Given the description of an element on the screen output the (x, y) to click on. 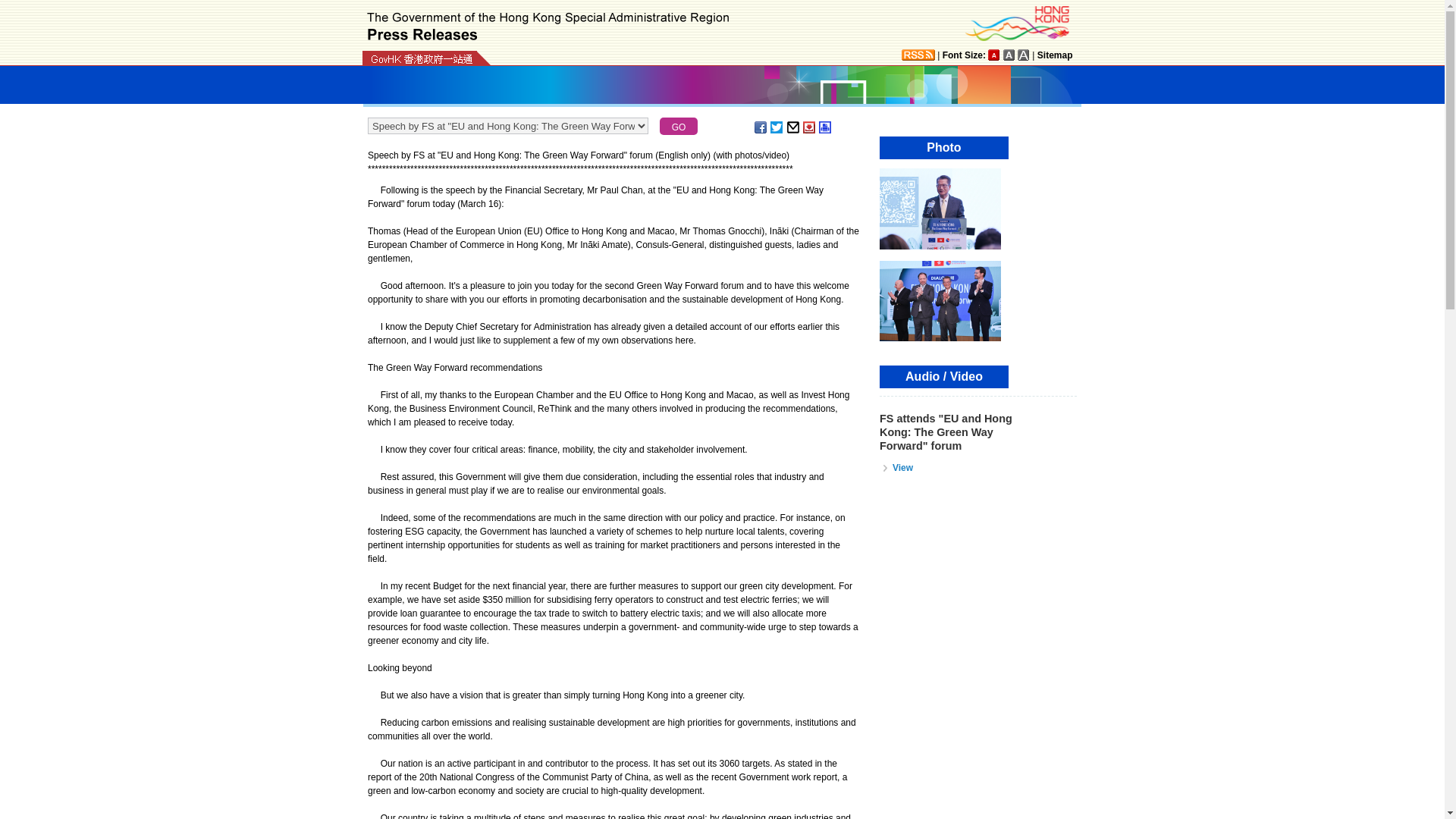
GovHK (421, 58)
Default font size (994, 54)
Larger font size (1008, 54)
Print (825, 127)
GO (678, 126)
Sitemap (1054, 54)
Share on Facebook (761, 127)
GO (678, 126)
Largest font size (1023, 54)
Email (793, 127)
